Given the description of an element on the screen output the (x, y) to click on. 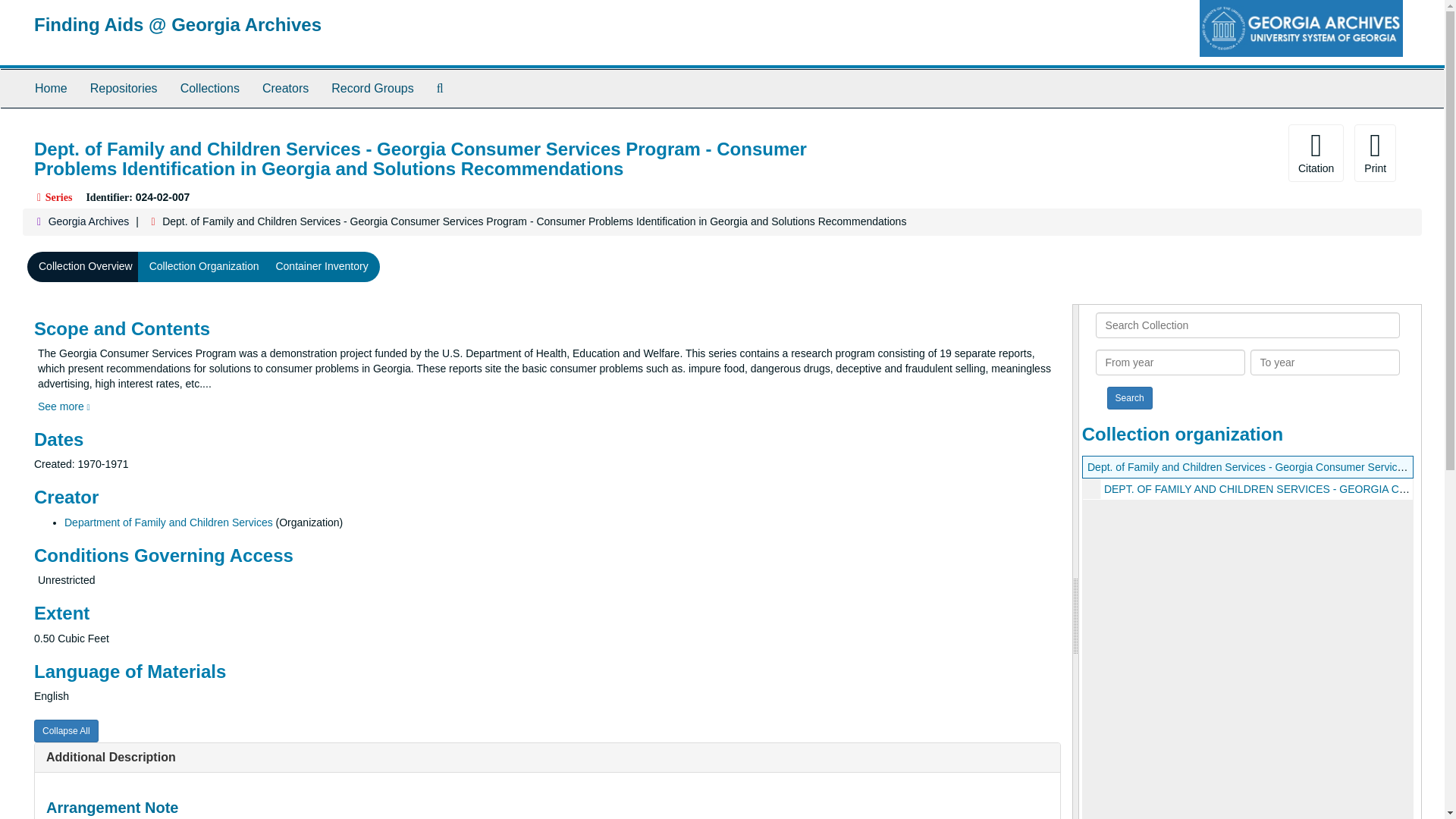
Collection Organization (204, 266)
translation missing: en.Home (50, 88)
Creators (285, 88)
Home (50, 88)
Page Actions (1130, 152)
Collapse All (66, 730)
Search (1129, 397)
Citation (1315, 152)
Record Groups (372, 88)
